Given the description of an element on the screen output the (x, y) to click on. 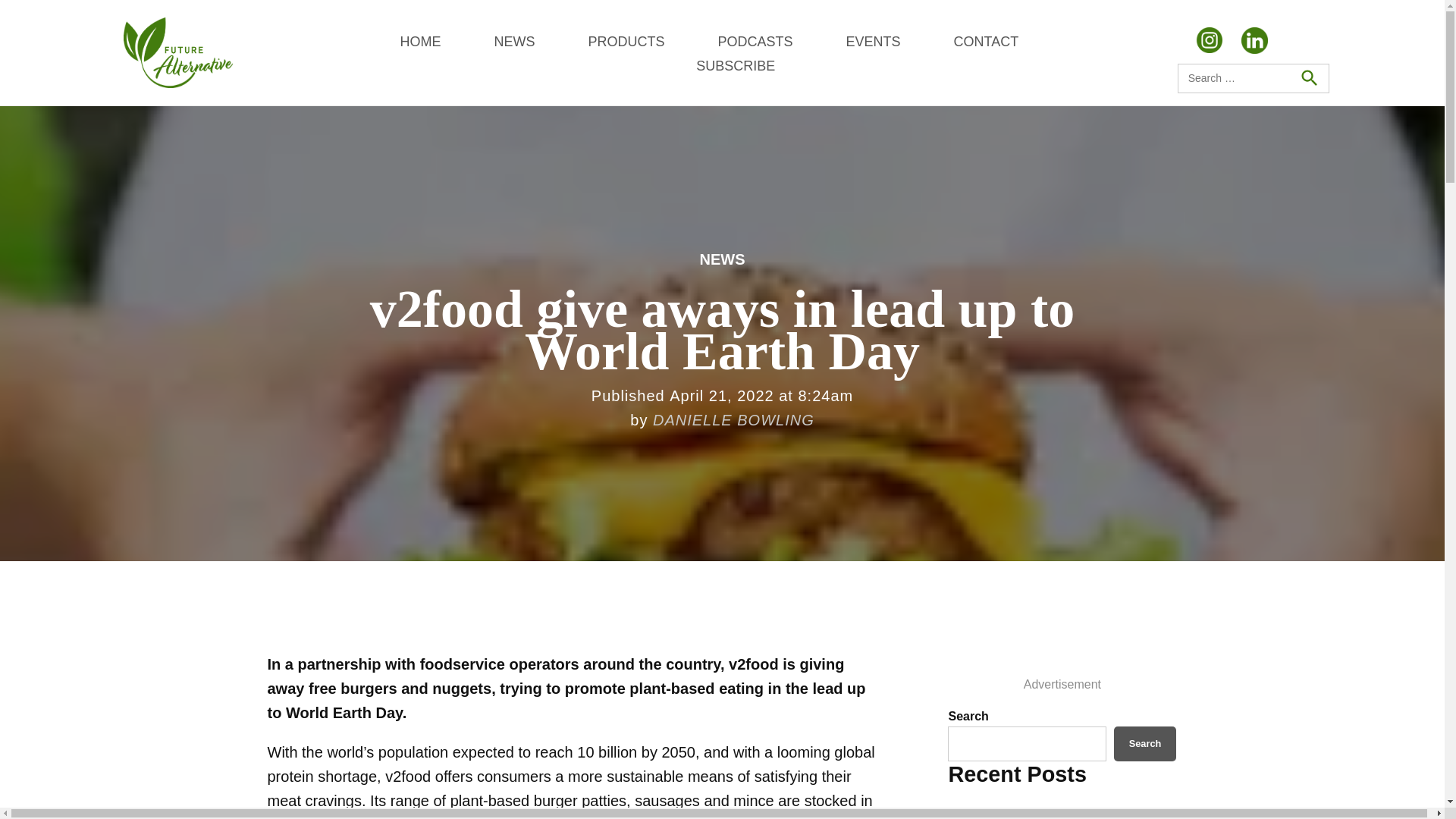
HOME (419, 40)
SUBSCRIBE (734, 64)
Search (1308, 78)
NEWS (513, 40)
POSTS BY DANIELLE BOWLING (732, 419)
DANIELLE BOWLING (732, 419)
Search (1144, 743)
NEWS (721, 258)
CONTACT (986, 40)
